Given the description of an element on the screen output the (x, y) to click on. 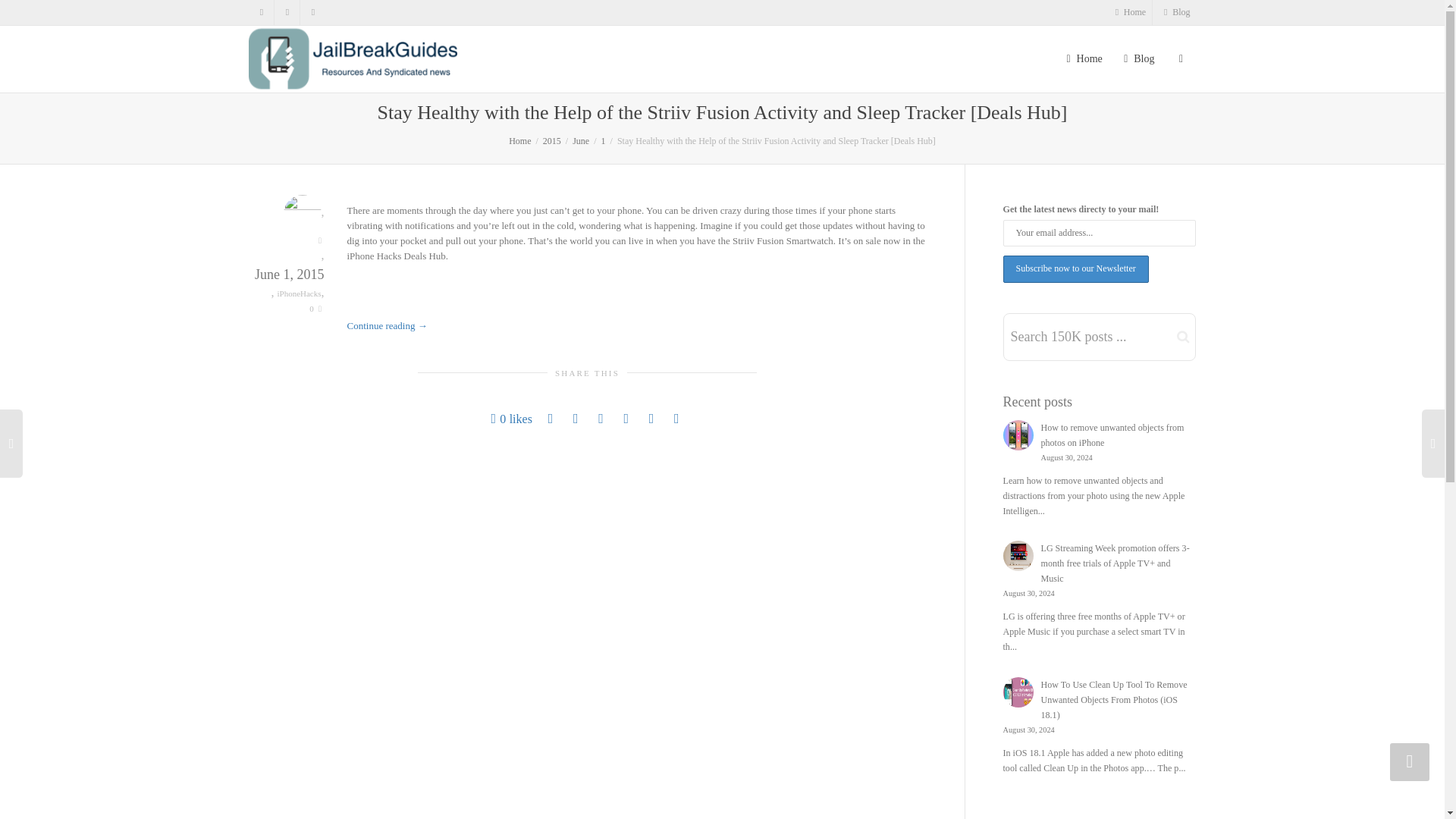
JailBreak Resources And Syndicated News (519, 140)
Blog (1174, 12)
View all POSTS by StackSocial (302, 212)
Search (1182, 336)
Search (1182, 336)
Blog (1174, 12)
Subscribe now to our Newsletter (1075, 268)
June (580, 140)
0 likes (512, 418)
iPhoneHacks (298, 293)
